Given the description of an element on the screen output the (x, y) to click on. 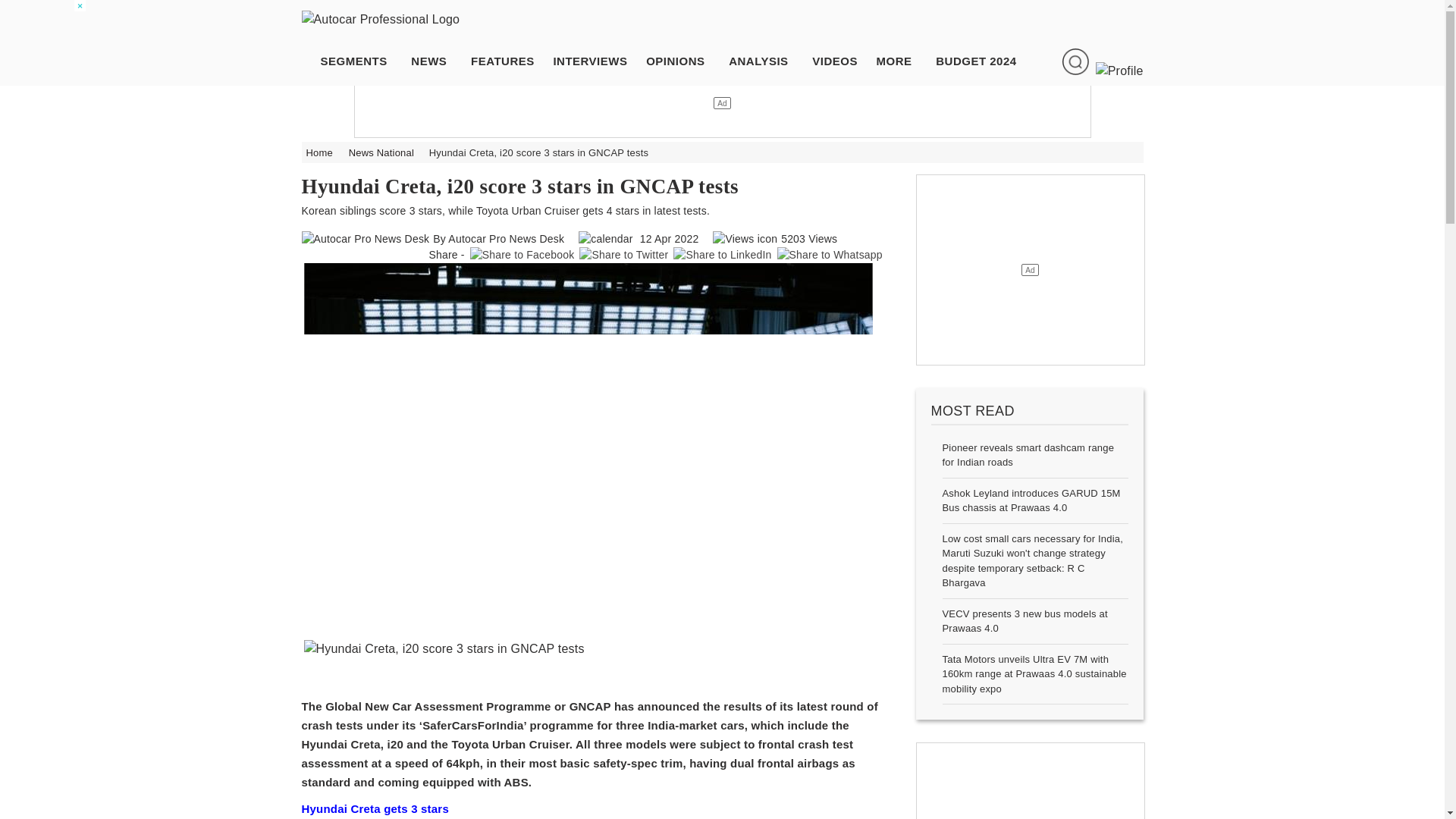
BUDGET 2024 (983, 61)
Hyundai Creta, i20 score 3 stars in GNCAP tests (590, 648)
FEATURES (510, 61)
VIDEOS (842, 61)
OPINIONS (682, 61)
INTERVIEWS (596, 61)
ANALYSIS (765, 61)
MORE (901, 61)
SEGMENTS (361, 61)
